Given the description of an element on the screen output the (x, y) to click on. 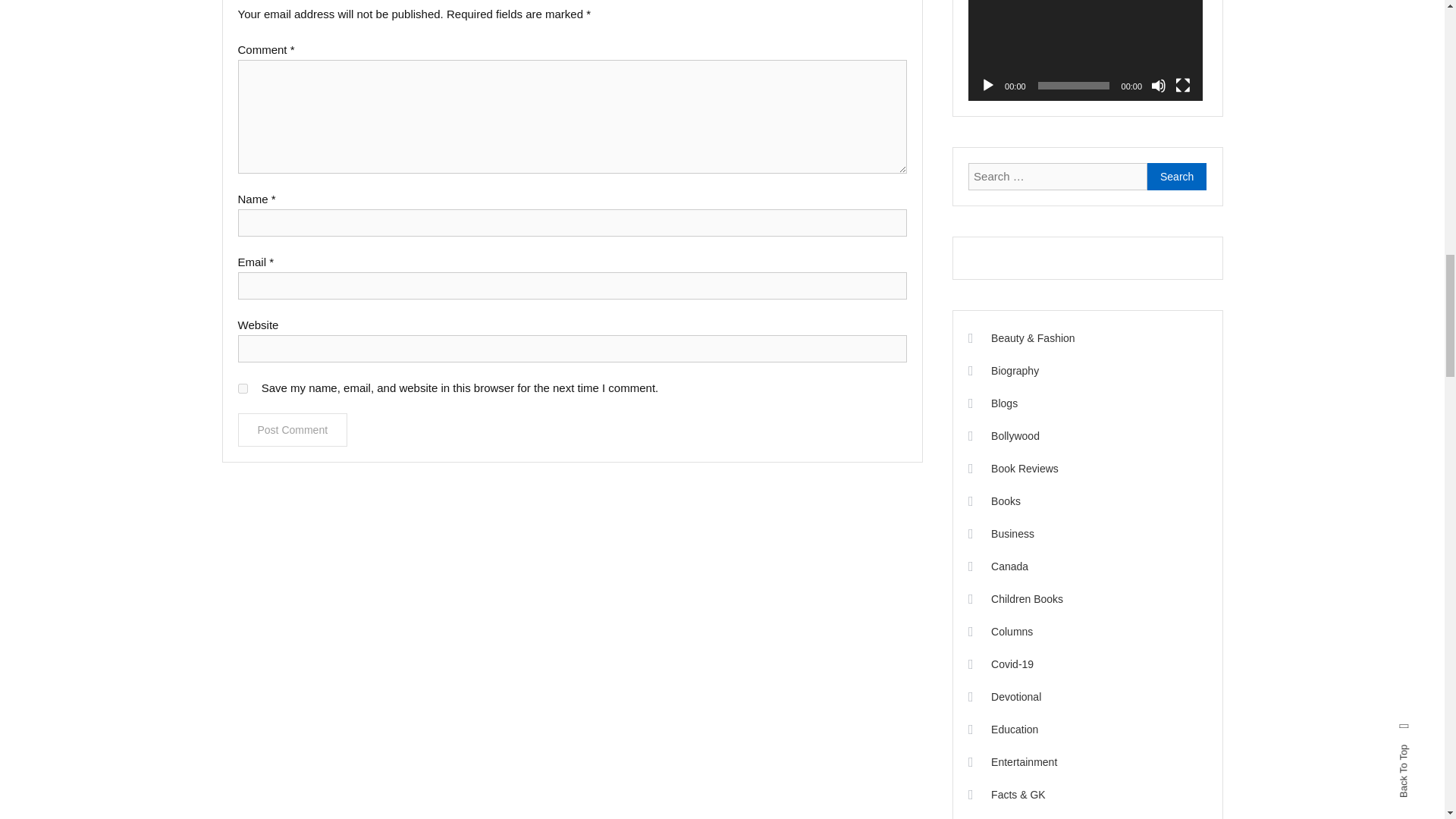
Play (987, 85)
Post Comment (292, 429)
Search (1177, 176)
Search (1177, 176)
Fullscreen (1182, 85)
yes (242, 388)
Mute (1158, 85)
